Given the description of an element on the screen output the (x, y) to click on. 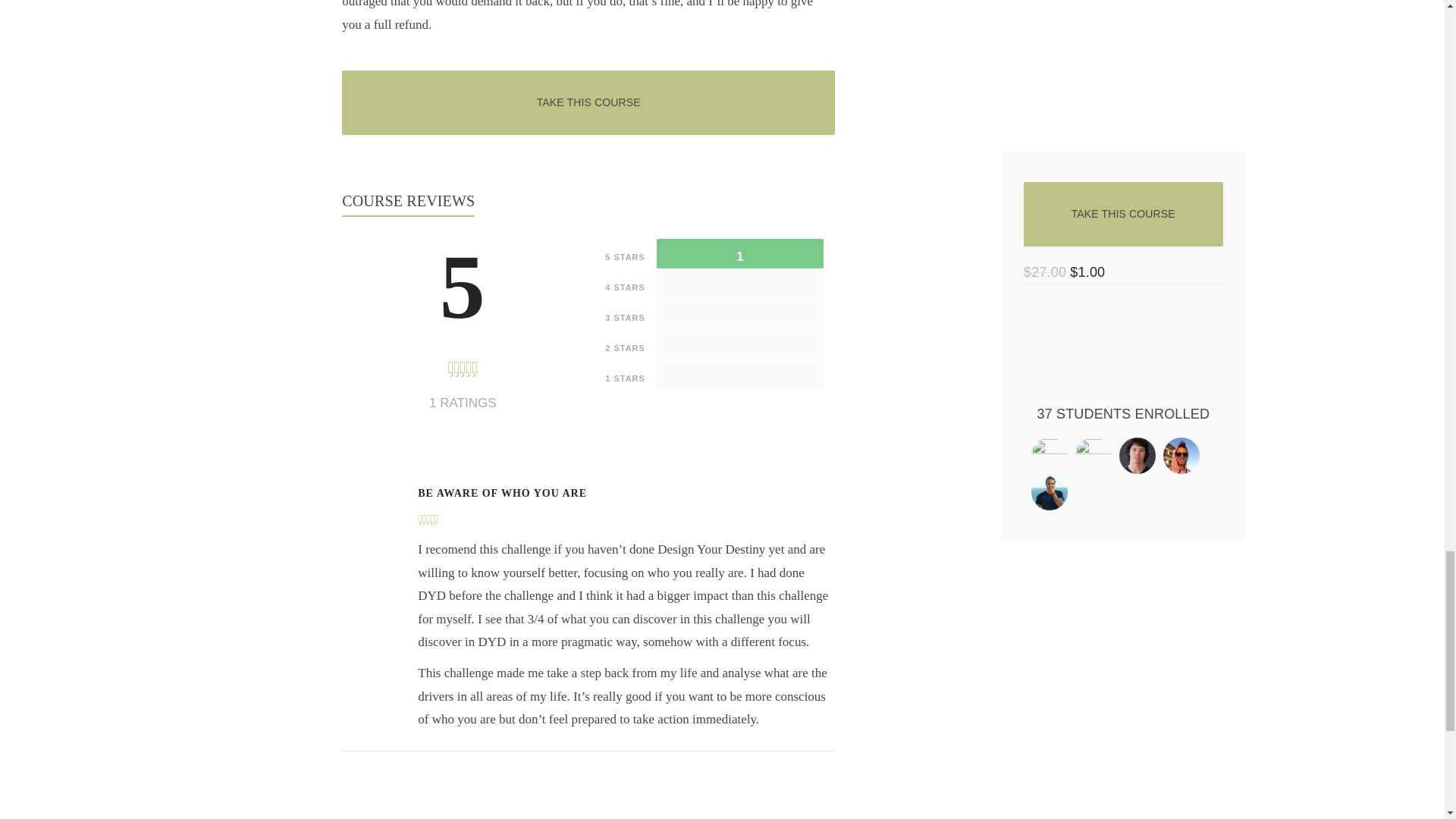
TAKE THIS COURSE (588, 102)
